Given the description of an element on the screen output the (x, y) to click on. 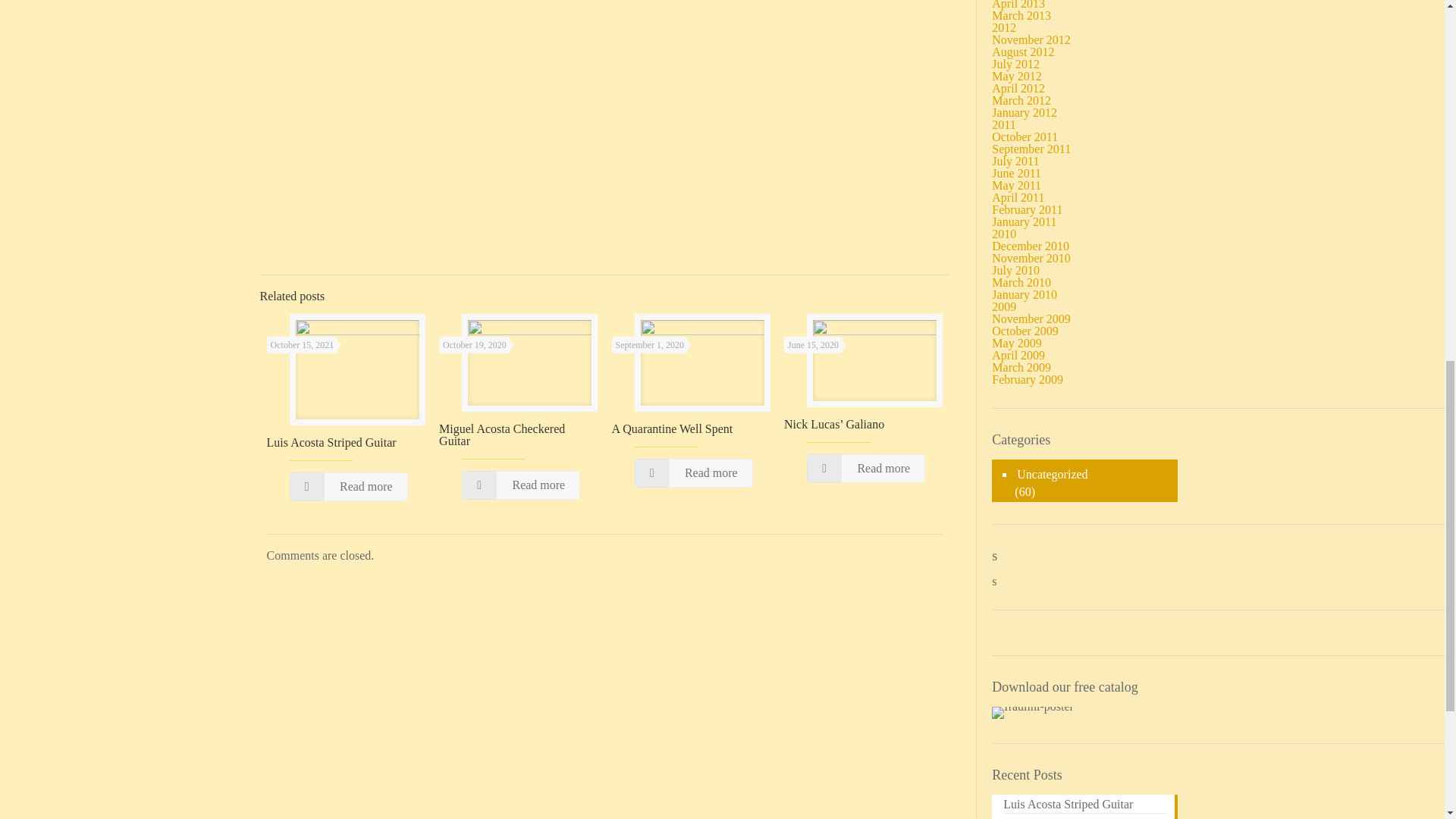
Luis Acosta Striped Guitar (331, 441)
Read more (348, 486)
